Given the description of an element on the screen output the (x, y) to click on. 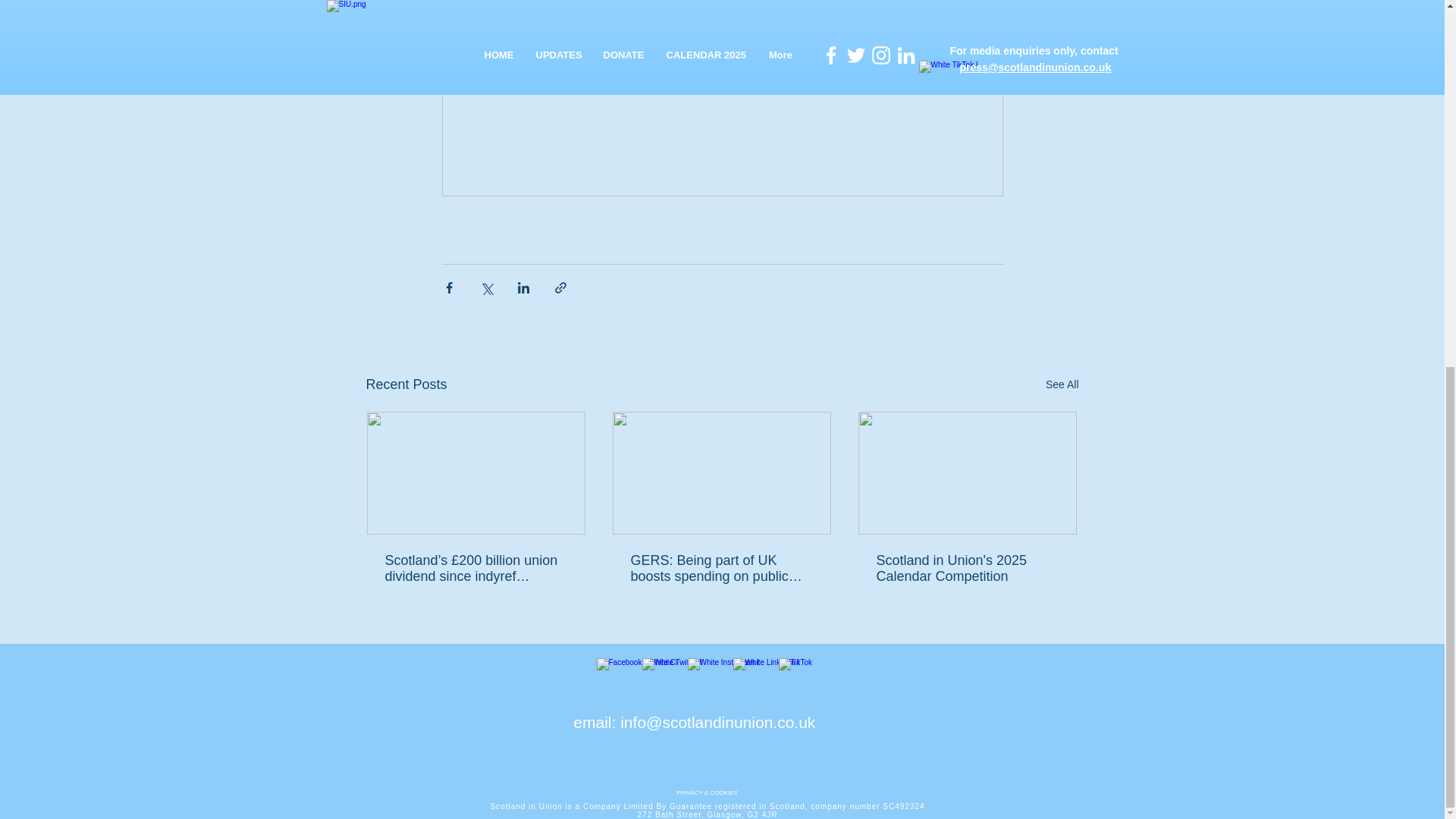
See All (1061, 384)
GERS: Being part of UK boosts spending on public services (721, 568)
Scotland in Union's 2025 Calendar Competition (967, 568)
